Given the description of an element on the screen output the (x, y) to click on. 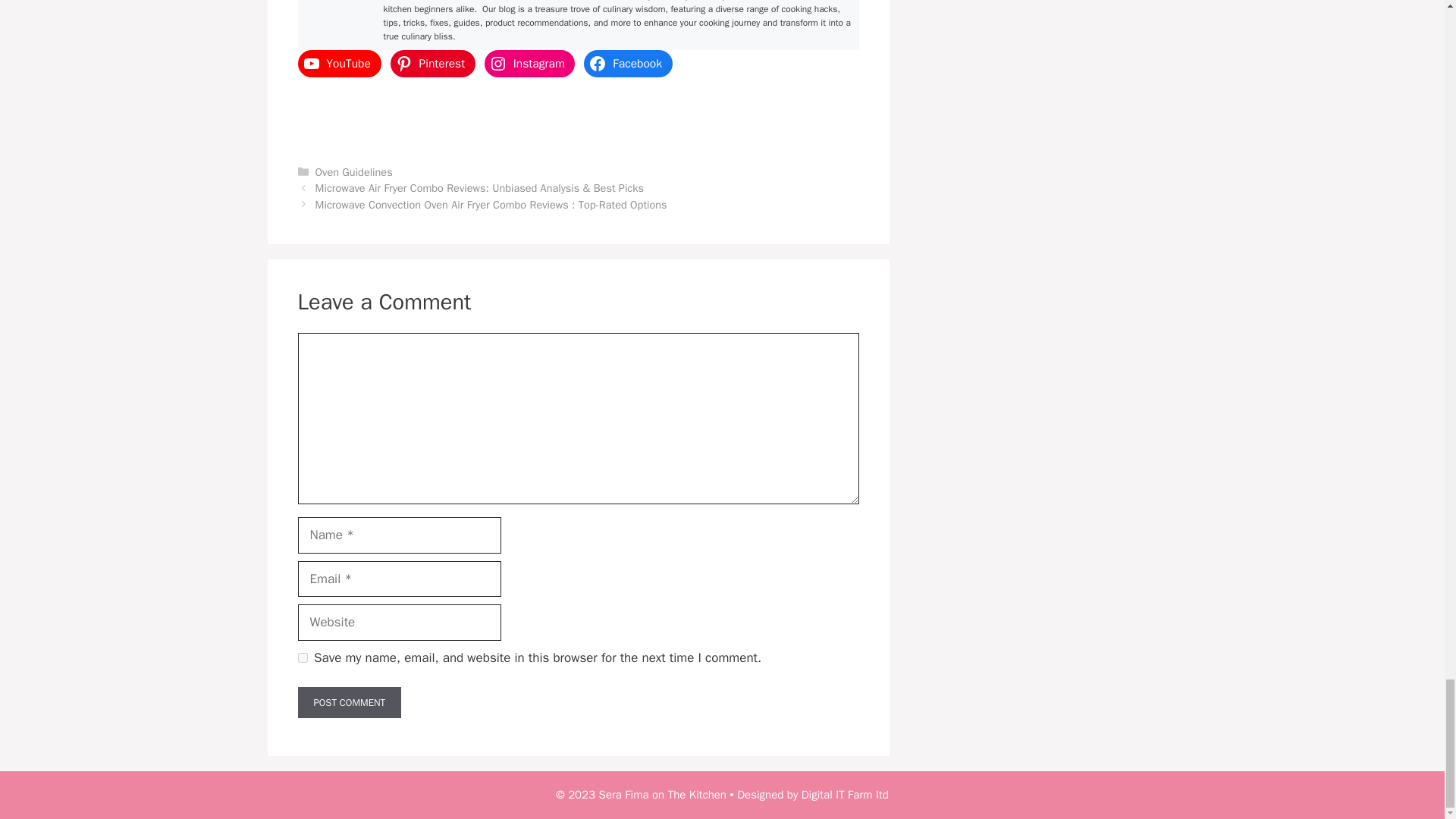
yes (302, 657)
Pinterest (433, 62)
Instagram (529, 62)
YouTube (338, 62)
Post Comment (349, 703)
Facebook (627, 62)
Oven Guidelines (354, 172)
